Given the description of an element on the screen output the (x, y) to click on. 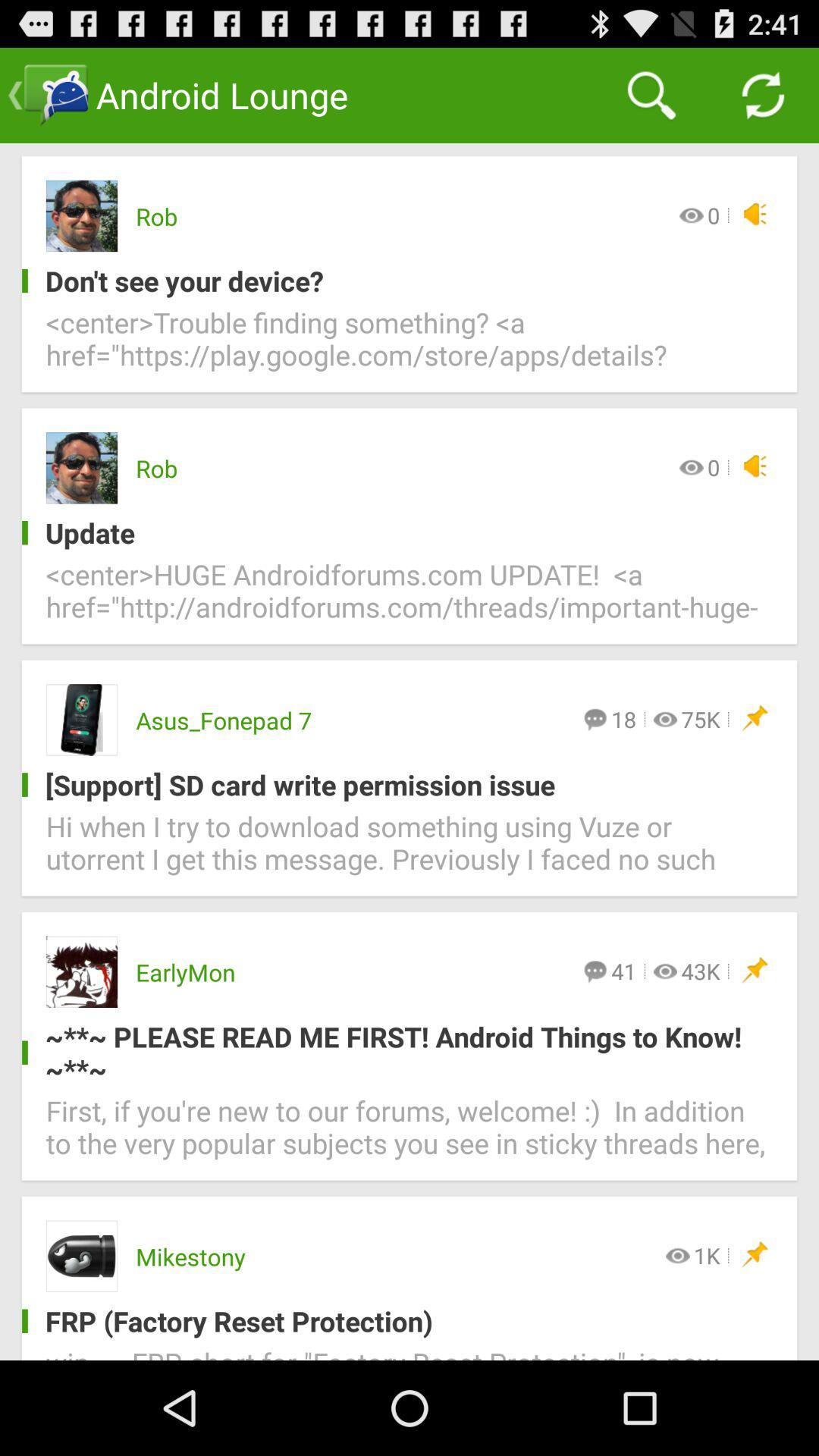
launch the item below the first if you icon (400, 1256)
